Given the description of an element on the screen output the (x, y) to click on. 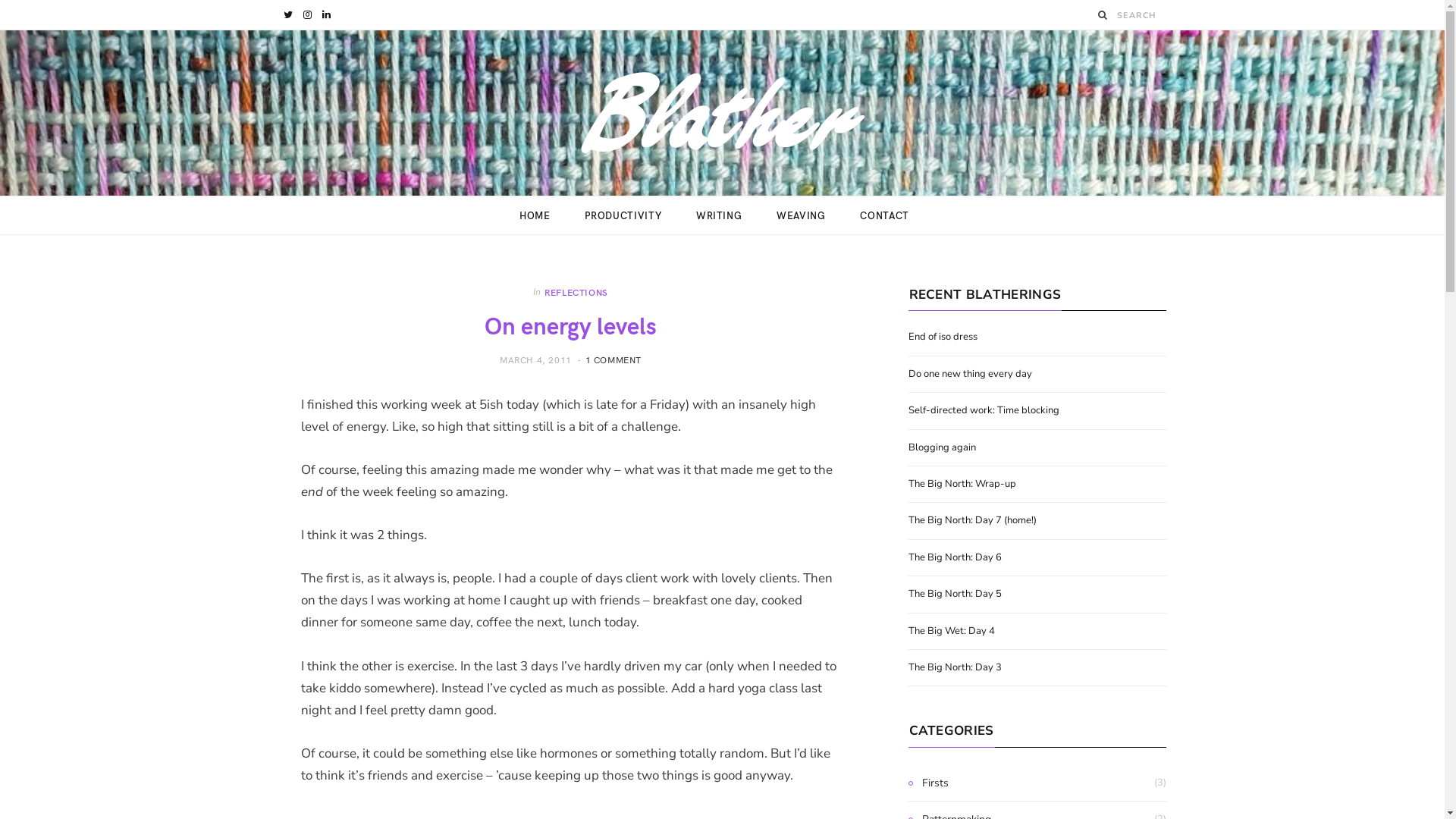
MARCH 4, 2011 Element type: text (536, 359)
CONTACT Element type: text (884, 215)
Firsts Element type: text (928, 783)
The Big North: Day 6 Element type: text (954, 557)
The Big North: Day 7 (home!) Element type: text (972, 520)
Self-directed work: Time blocking Element type: text (983, 410)
The Big North: Day 5 Element type: text (954, 593)
End of iso dress Element type: text (942, 336)
Instagram Element type: text (307, 15)
Blather Element type: hover (722, 112)
The Big North: Day 3 Element type: text (954, 667)
WEAVING Element type: text (800, 215)
PRODUCTIVITY Element type: text (622, 215)
1 COMMENT Element type: text (613, 359)
LinkedIn Element type: text (325, 15)
HOME Element type: text (534, 215)
The Big Wet: Day 4 Element type: text (951, 630)
The Big North: Wrap-up Element type: text (962, 483)
WRITING Element type: text (719, 215)
Do one new thing every day Element type: text (970, 373)
Twitter Element type: text (288, 15)
Blogging again Element type: text (941, 447)
REFLECTIONS Element type: text (576, 291)
